Given the description of an element on the screen output the (x, y) to click on. 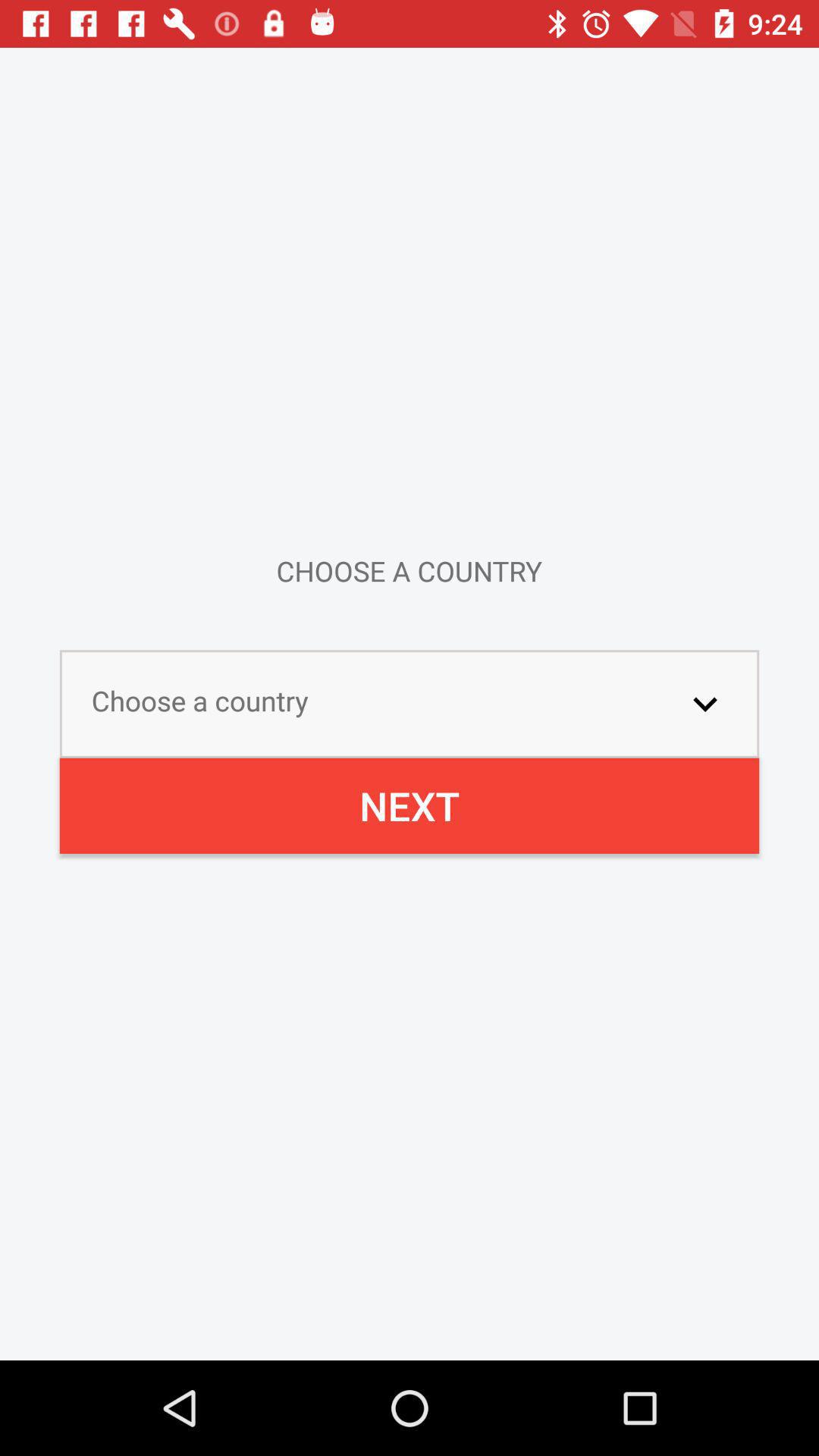
flip to next (409, 805)
